Given the description of an element on the screen output the (x, y) to click on. 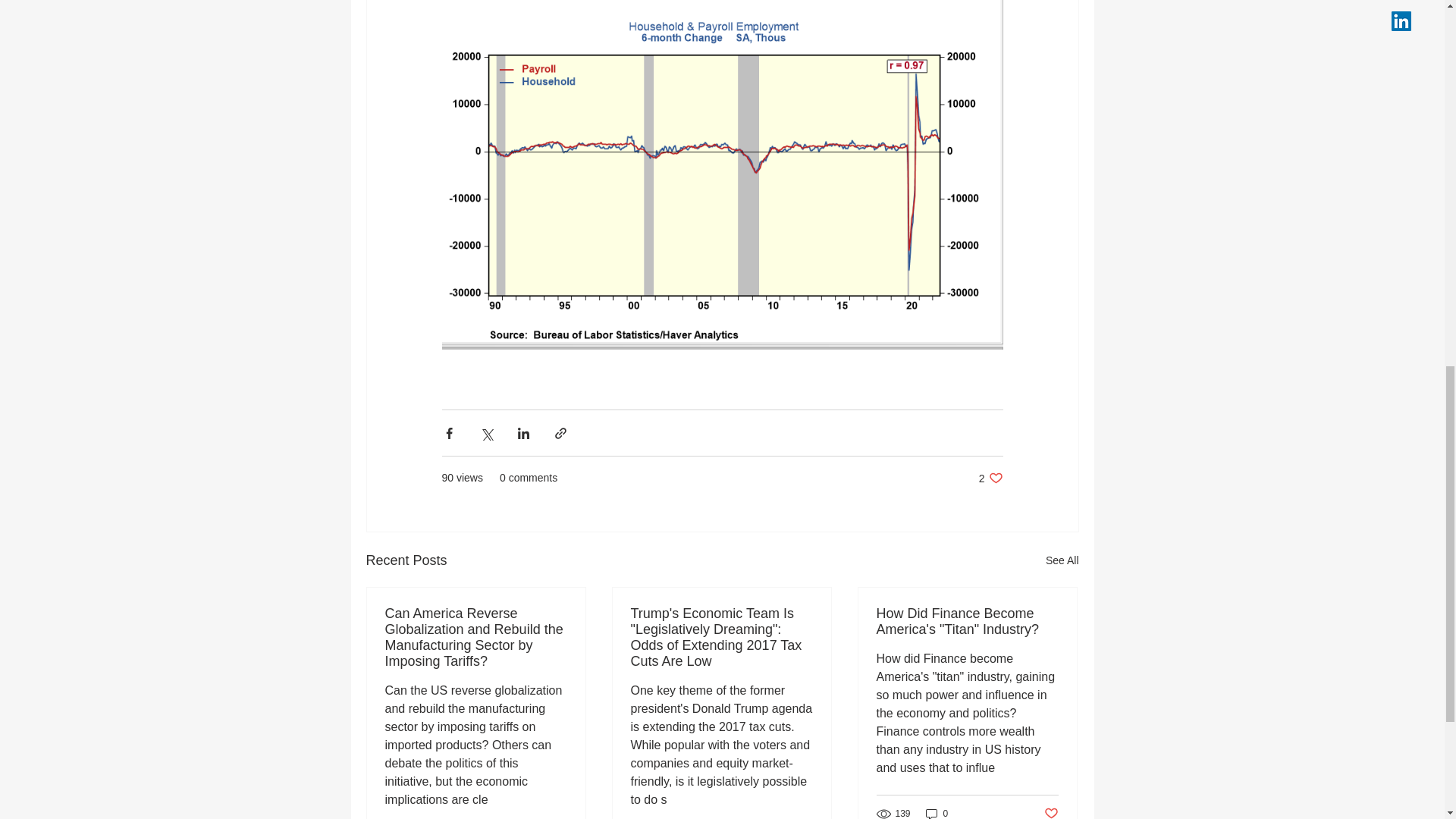
How Did Finance Become America's "Titan" Industry? (967, 622)
Post not marked as liked (1050, 812)
See All (1061, 560)
0 (937, 812)
